Given the description of an element on the screen output the (x, y) to click on. 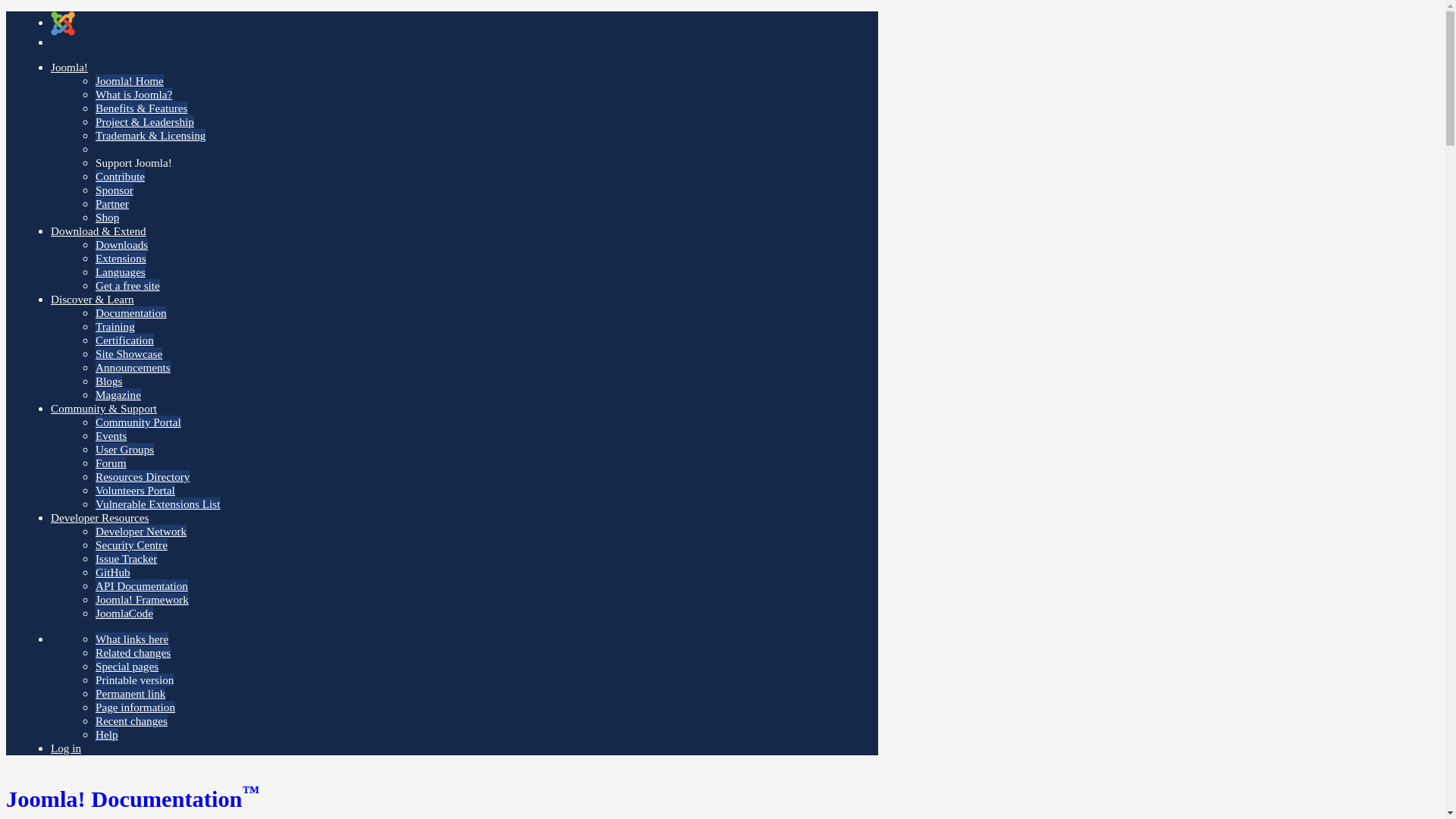
Partner (112, 203)
Training (115, 326)
Volunteers Portal (135, 490)
More information about this page (135, 707)
Special:RecentChanges (131, 720)
What is Joomla? (133, 93)
Permanent link to this revision of the page (130, 693)
User Groups (125, 449)
Vulnerable Extensions List (157, 503)
Joomla! Home (129, 80)
Site Showcase (128, 353)
Resources Directory (142, 476)
Developer Resources (99, 517)
Community Portal (138, 421)
Magazine (118, 394)
